Given the description of an element on the screen output the (x, y) to click on. 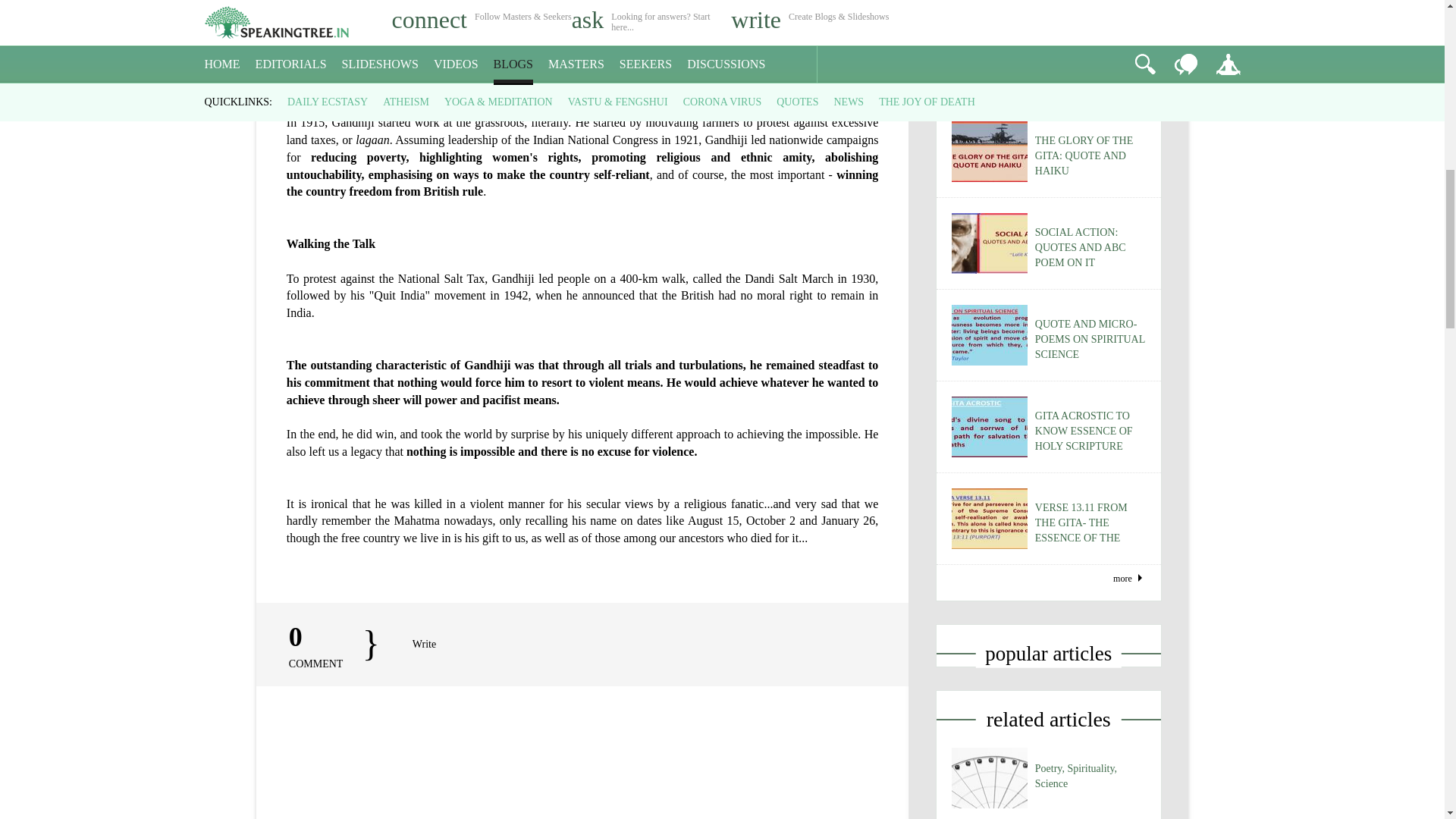
Share on Whatsapp (109, 150)
Share on Facebook (11, 150)
Share on LinkedIn (76, 150)
Share on Twitter (44, 150)
